Given the description of an element on the screen output the (x, y) to click on. 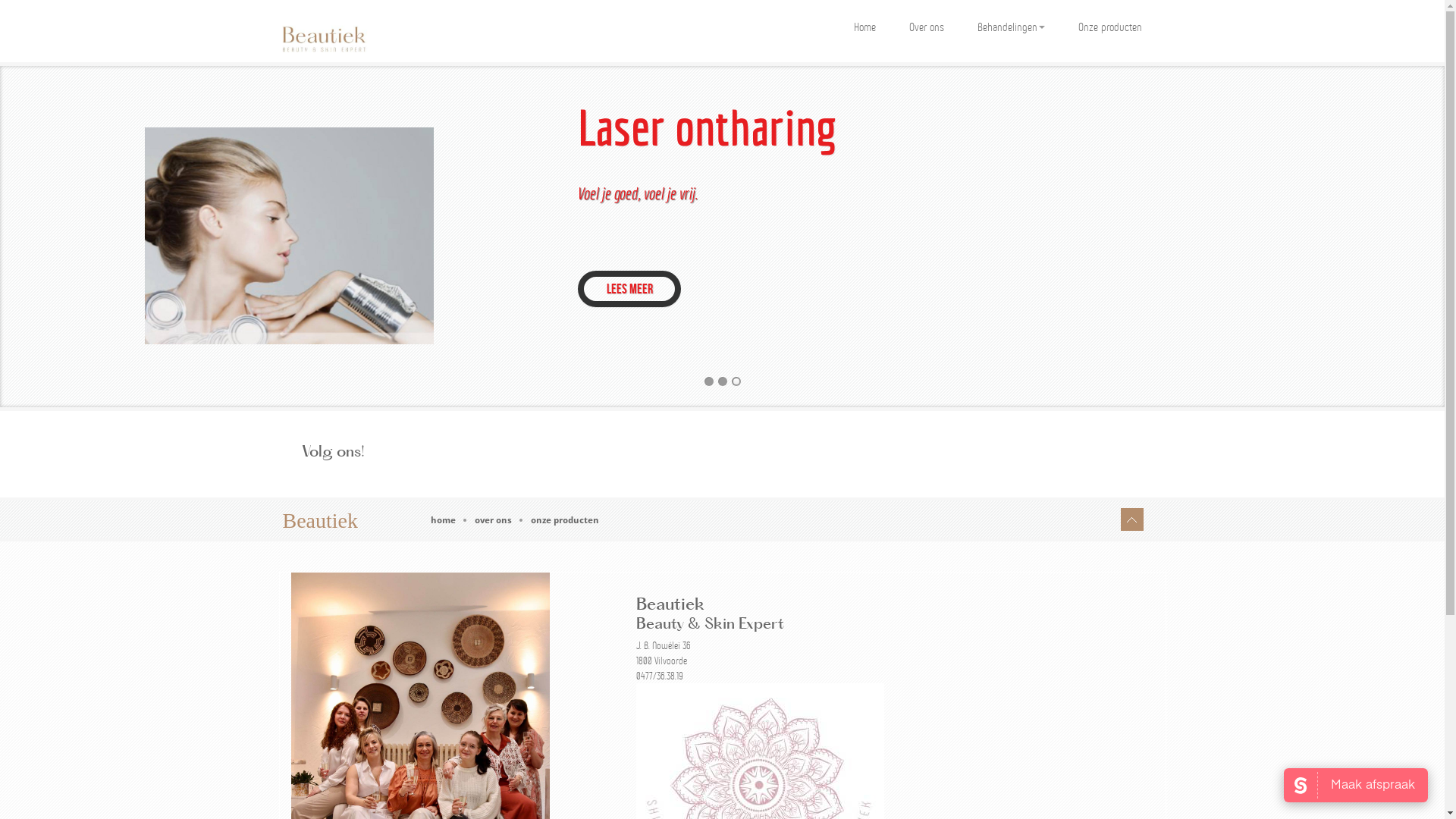
karine.vanhoegaerden@telenet.be Element type: text (694, 690)
Lees meer Element type: text (628, 288)
Over ons Element type: text (925, 25)
Home Element type: text (864, 25)
onze producten Element type: text (570, 520)
Beautiek Element type: text (319, 520)
home Element type: text (448, 520)
over ons Element type: text (498, 520)
Behandelingen Element type: text (1010, 25)
Onze producten Element type: text (1109, 25)
